Given the description of an element on the screen output the (x, y) to click on. 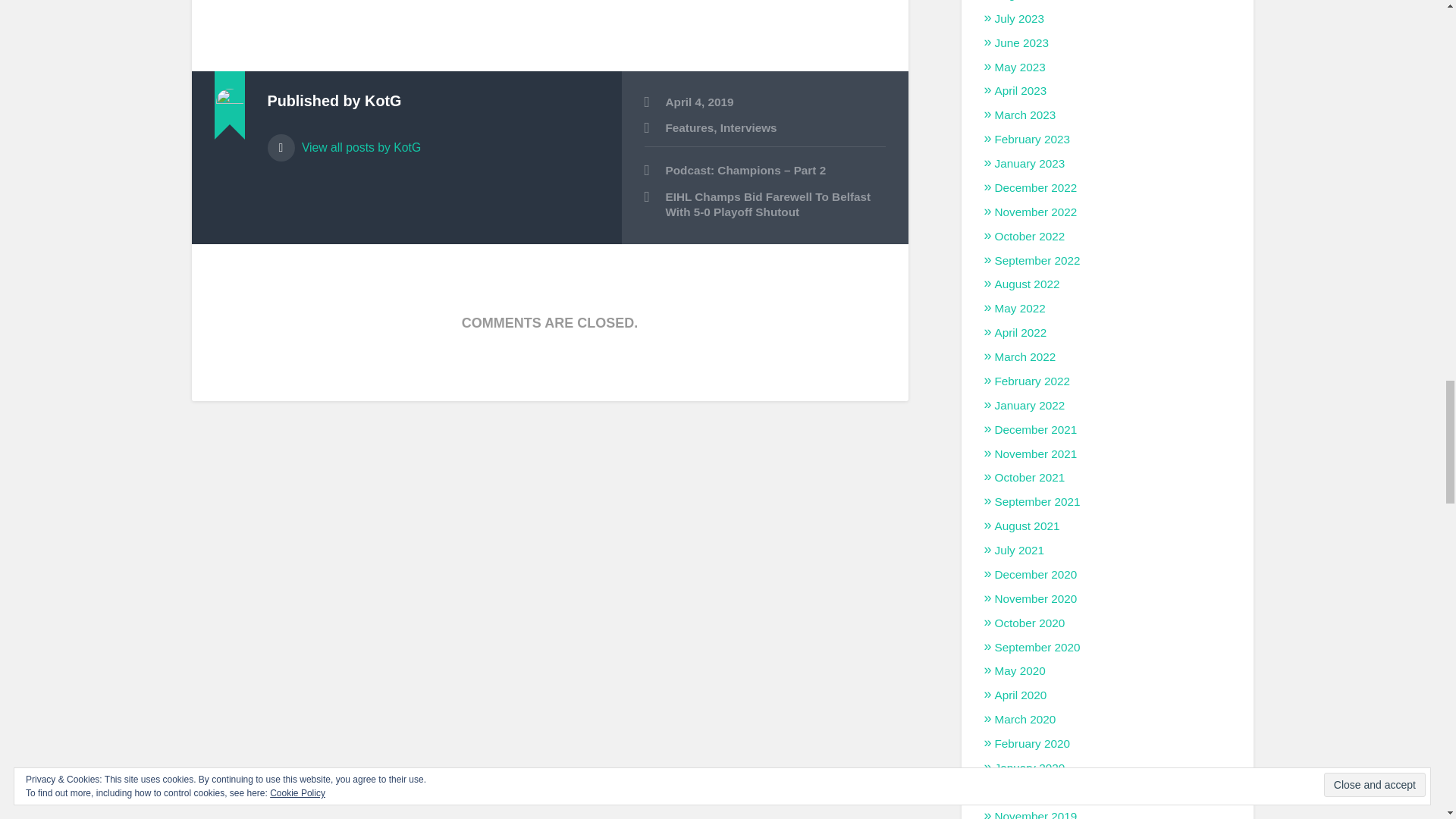
Interviews (748, 127)
Features (689, 127)
EIHL Champs Bid Farewell To Belfast With 5-0 Playoff Shutout (765, 205)
View all posts by KotG (432, 140)
